Given the description of an element on the screen output the (x, y) to click on. 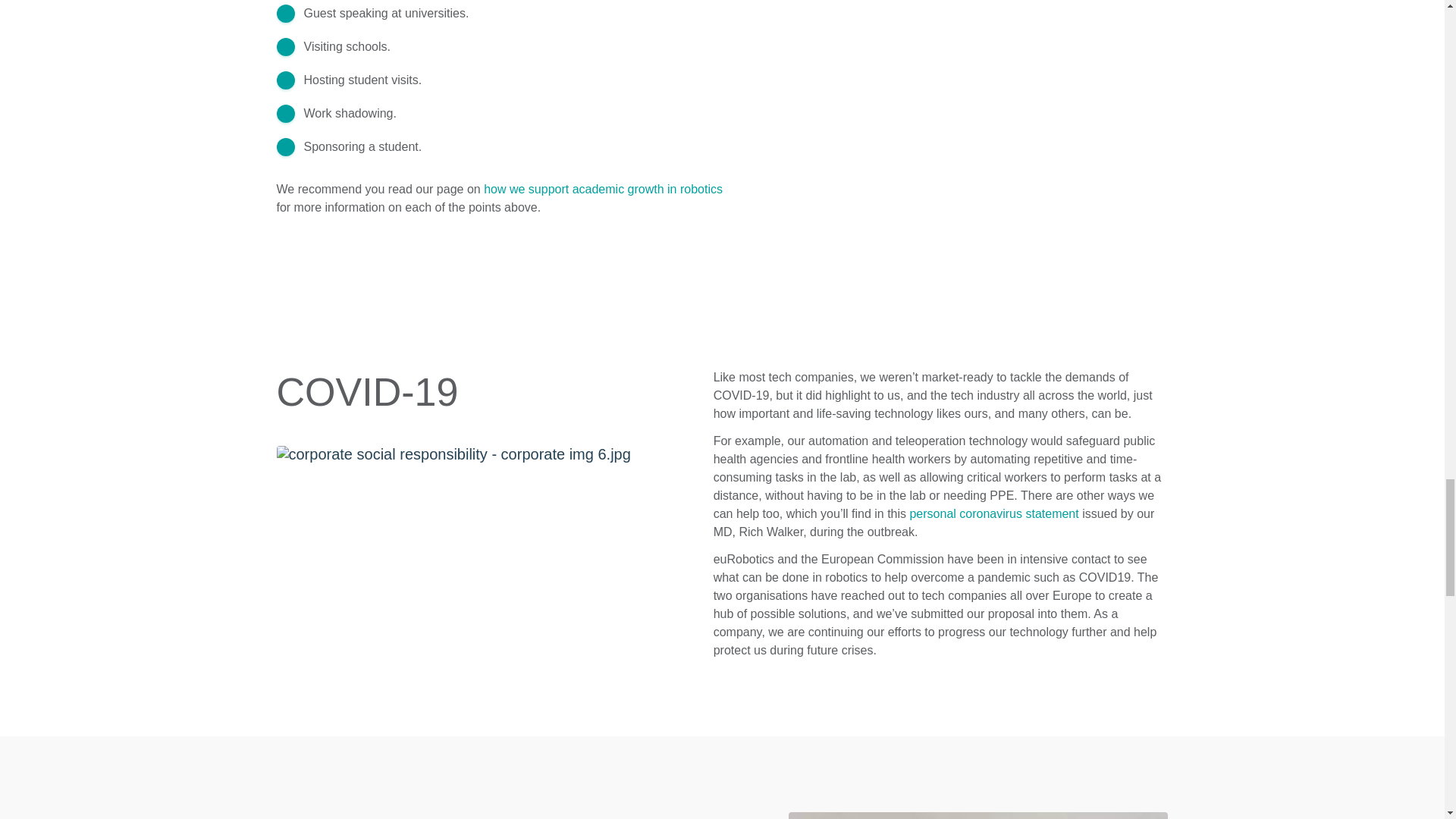
personal coronavirus statement (993, 513)
how we support academic growth in robotics (602, 188)
